Given the description of an element on the screen output the (x, y) to click on. 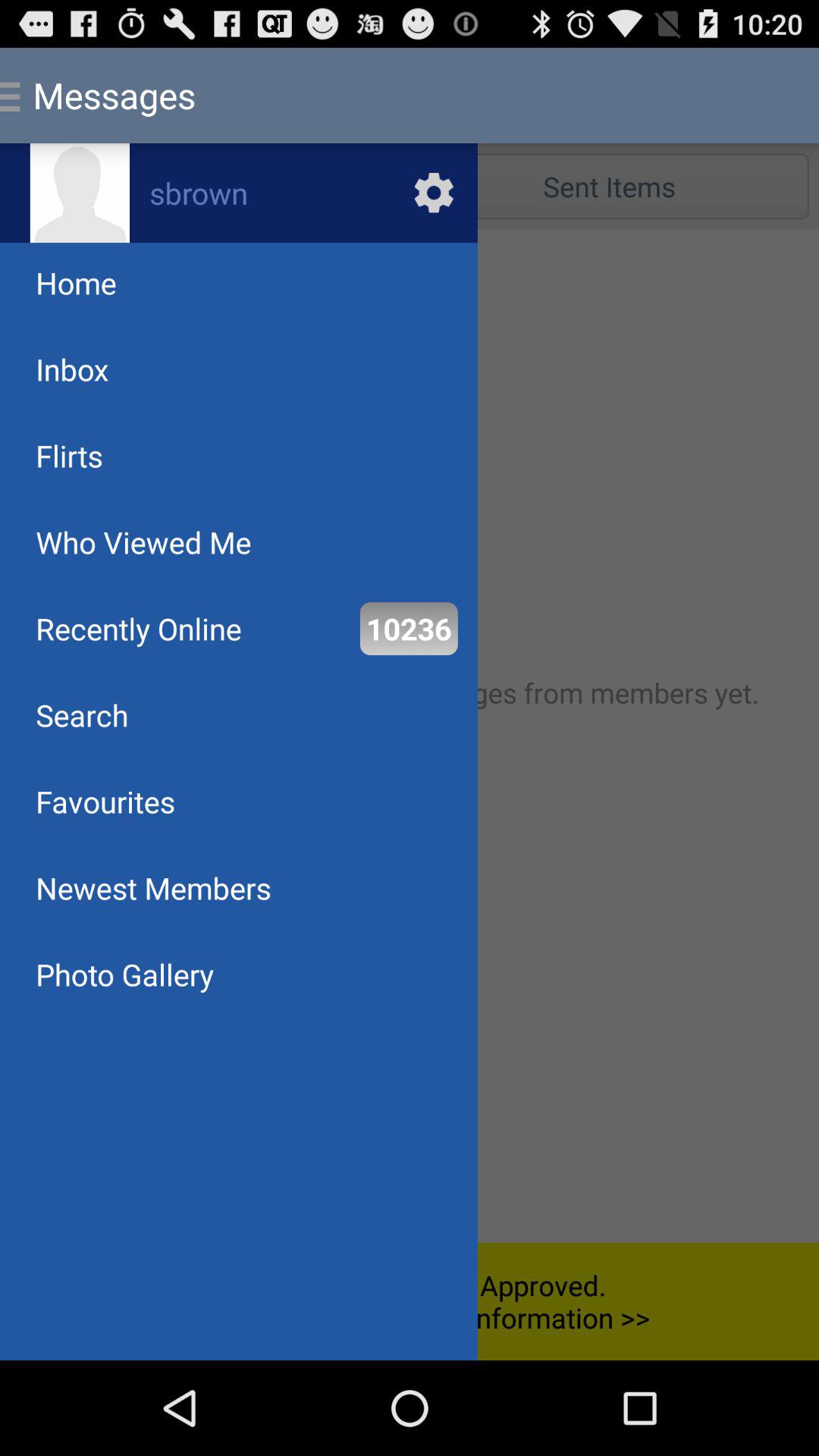
launch sent items (608, 186)
